Given the description of an element on the screen output the (x, y) to click on. 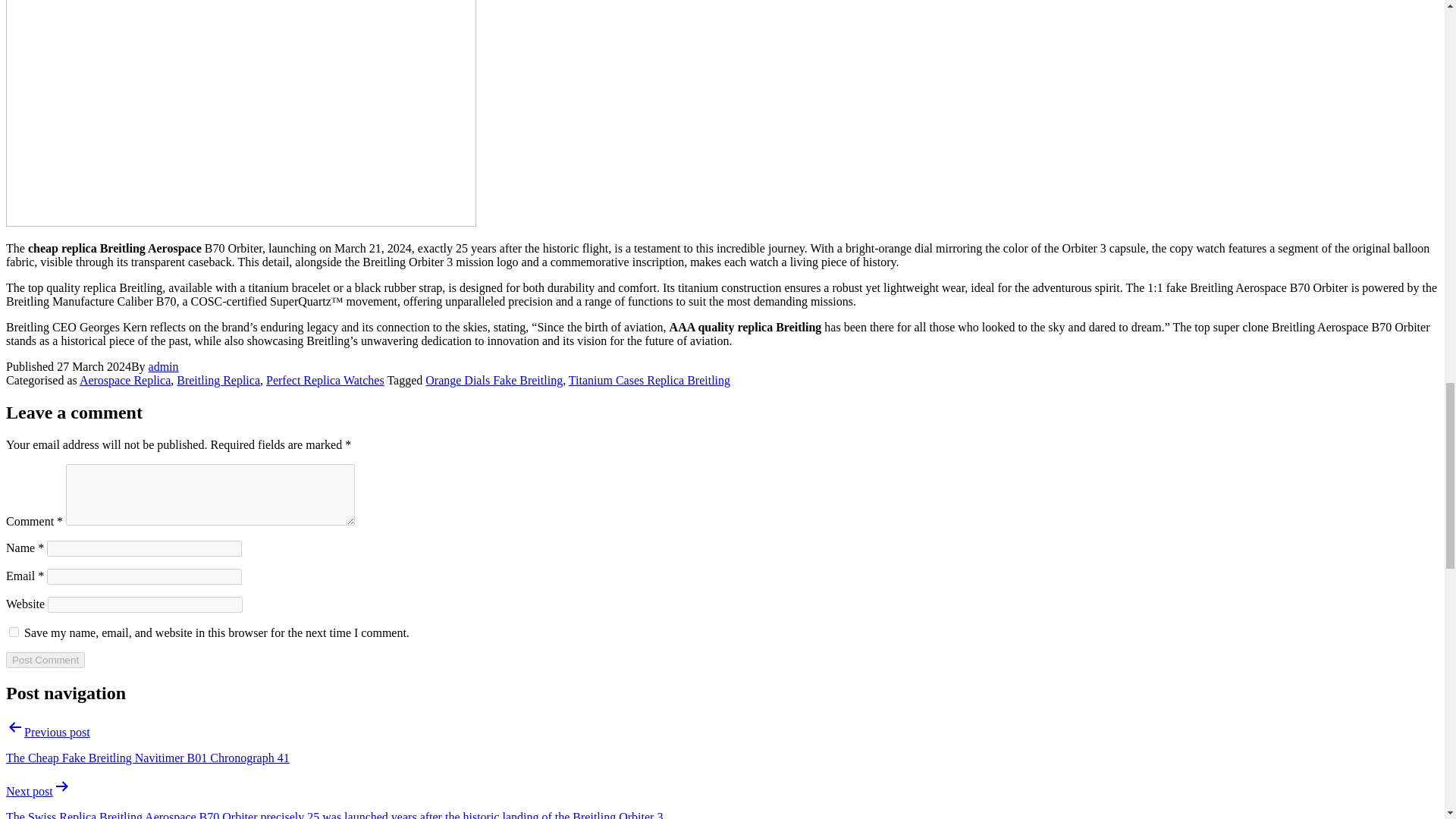
yes (13, 632)
Aerospace Replica (125, 379)
Titanium Cases Replica Breitling (649, 379)
admin (163, 366)
Post Comment (44, 659)
Post Comment (44, 659)
Breitling Replica (218, 379)
Orange Dials Fake Breitling (493, 379)
Perfect Replica Watches (325, 379)
